Given the description of an element on the screen output the (x, y) to click on. 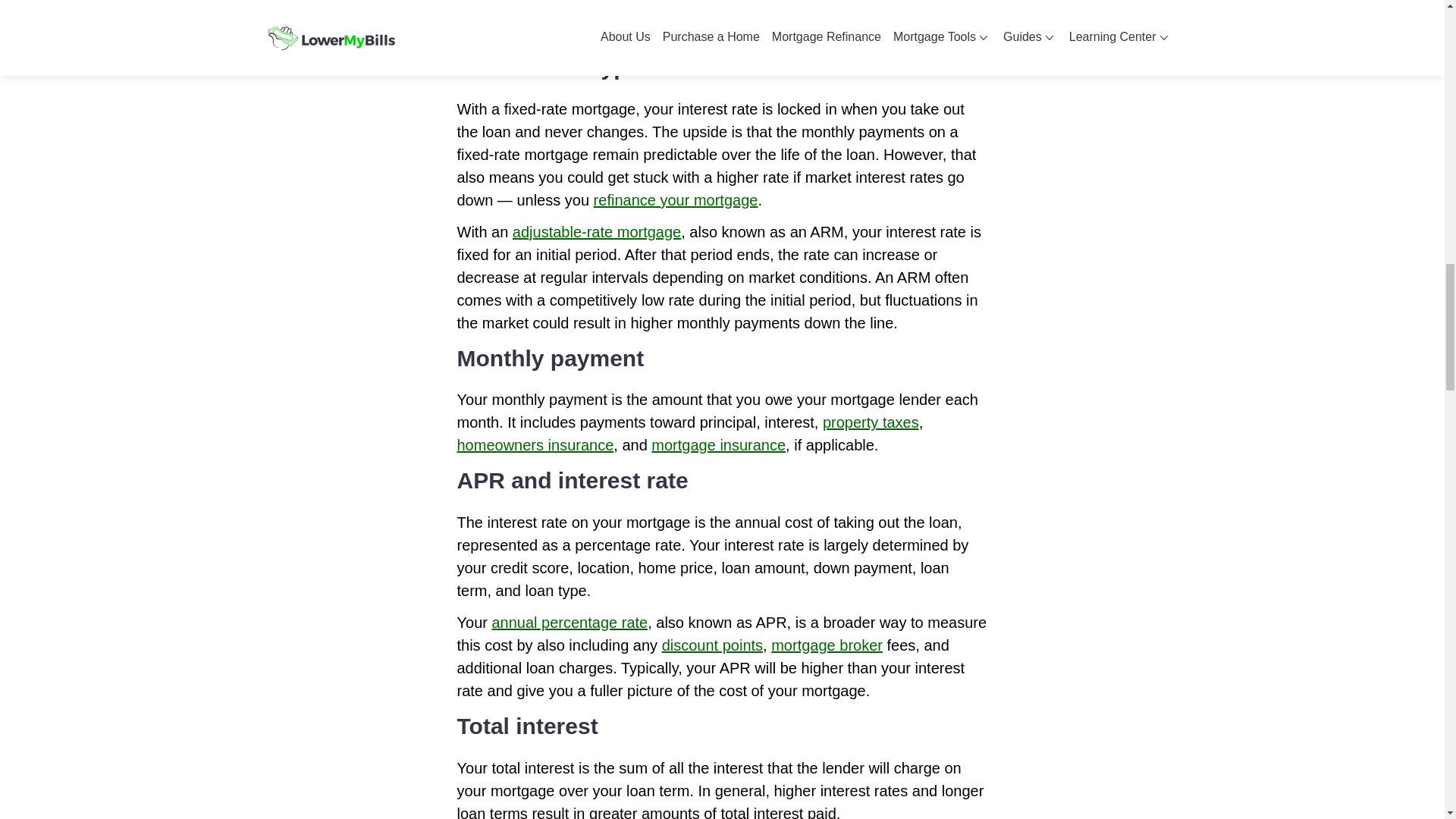
mortgage broker (826, 645)
mortgage insurance (718, 444)
refinance your mortgage (676, 199)
tool for homebuyers to explore interest rates (701, 20)
adjustable-rate mortgage (596, 231)
discount points (712, 645)
property taxes (870, 422)
homeowners insurance (534, 444)
annual percentage rate (569, 622)
